Given the description of an element on the screen output the (x, y) to click on. 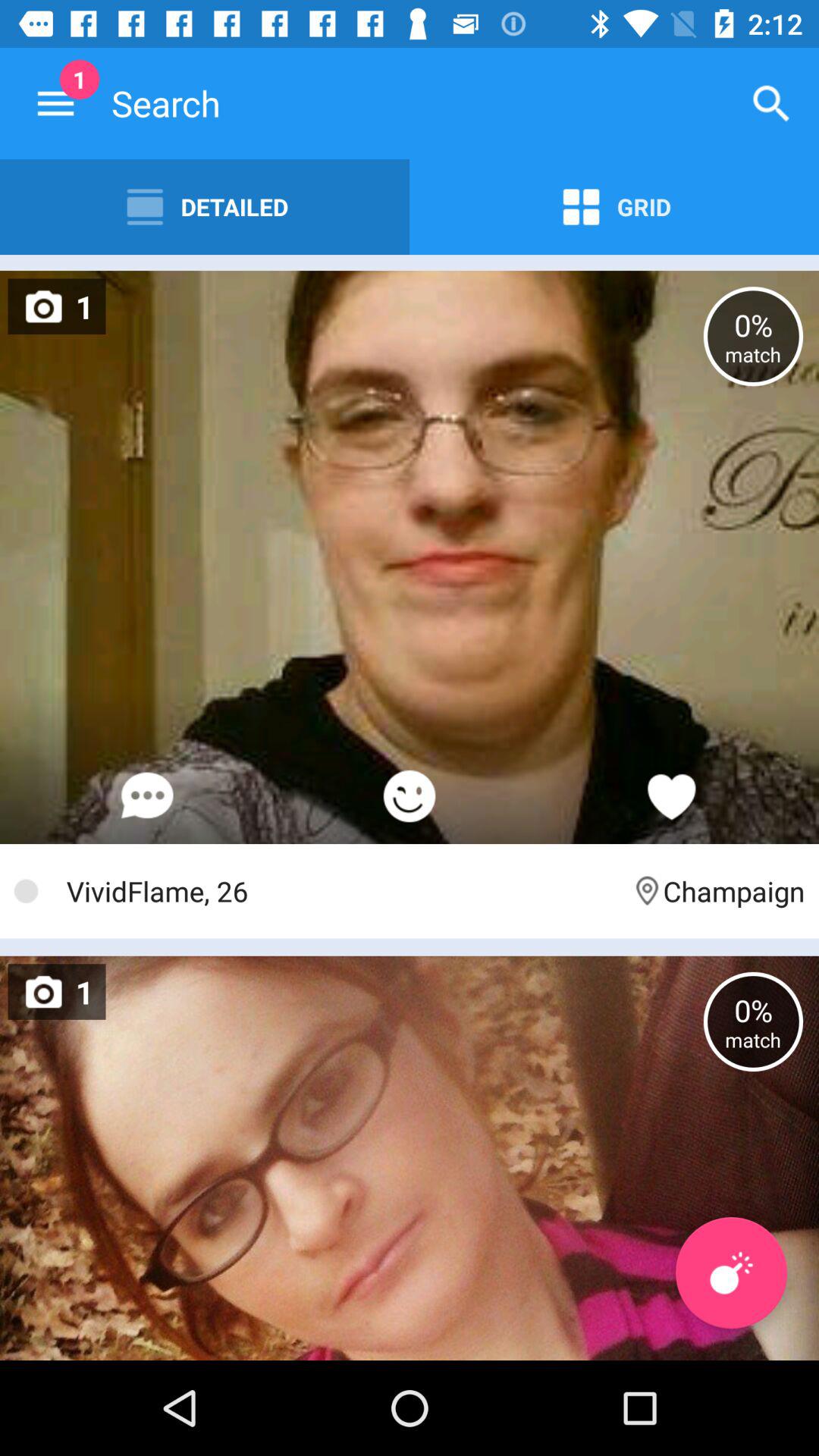
turn off the icon above detailed (55, 103)
